Given the description of an element on the screen output the (x, y) to click on. 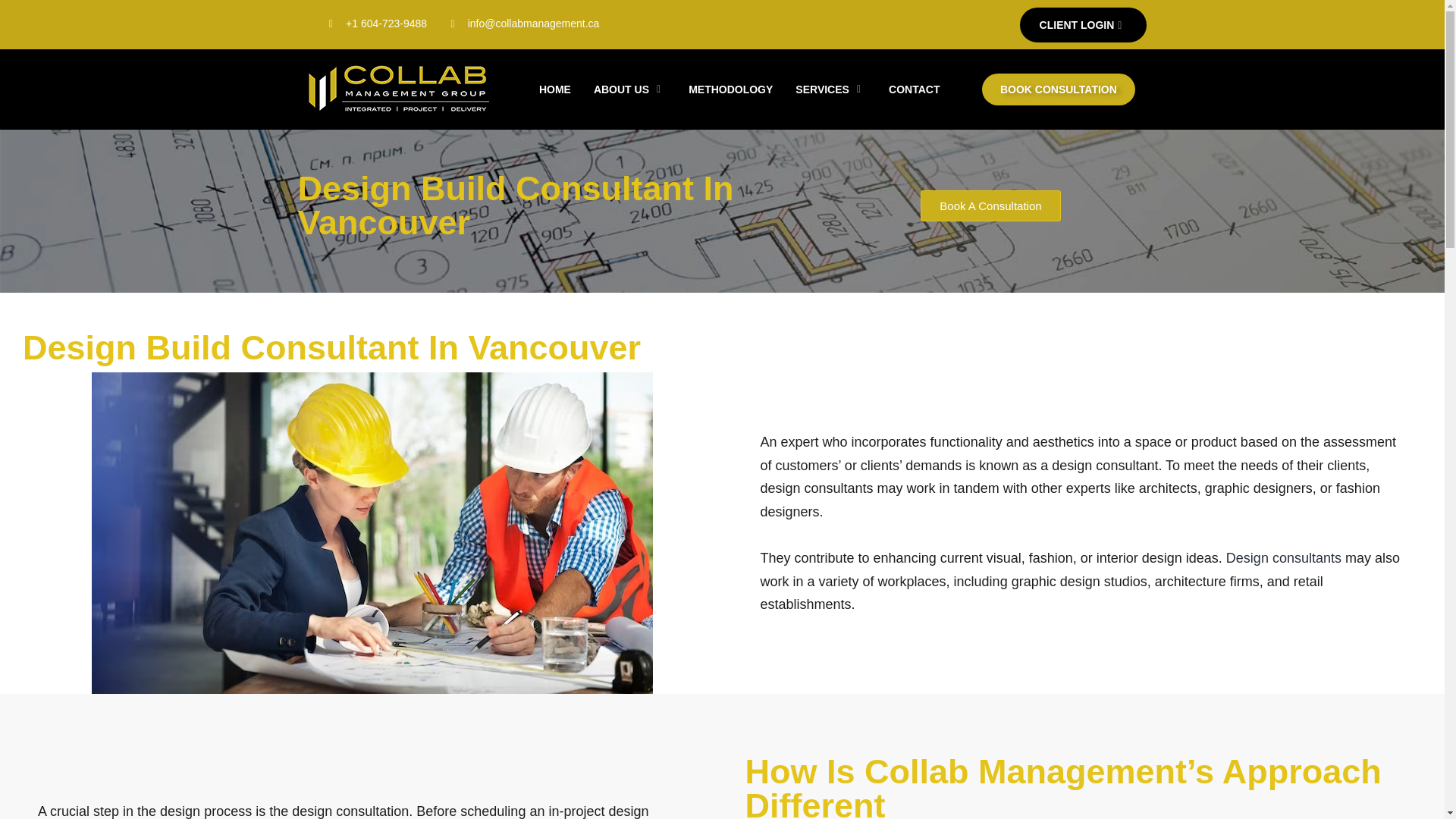
CLIENT LOGIN (1083, 24)
ABOUT US (629, 89)
CONTACT (913, 89)
HOME (554, 89)
METHODOLOGY (730, 89)
SERVICES (830, 89)
